Given the description of an element on the screen output the (x, y) to click on. 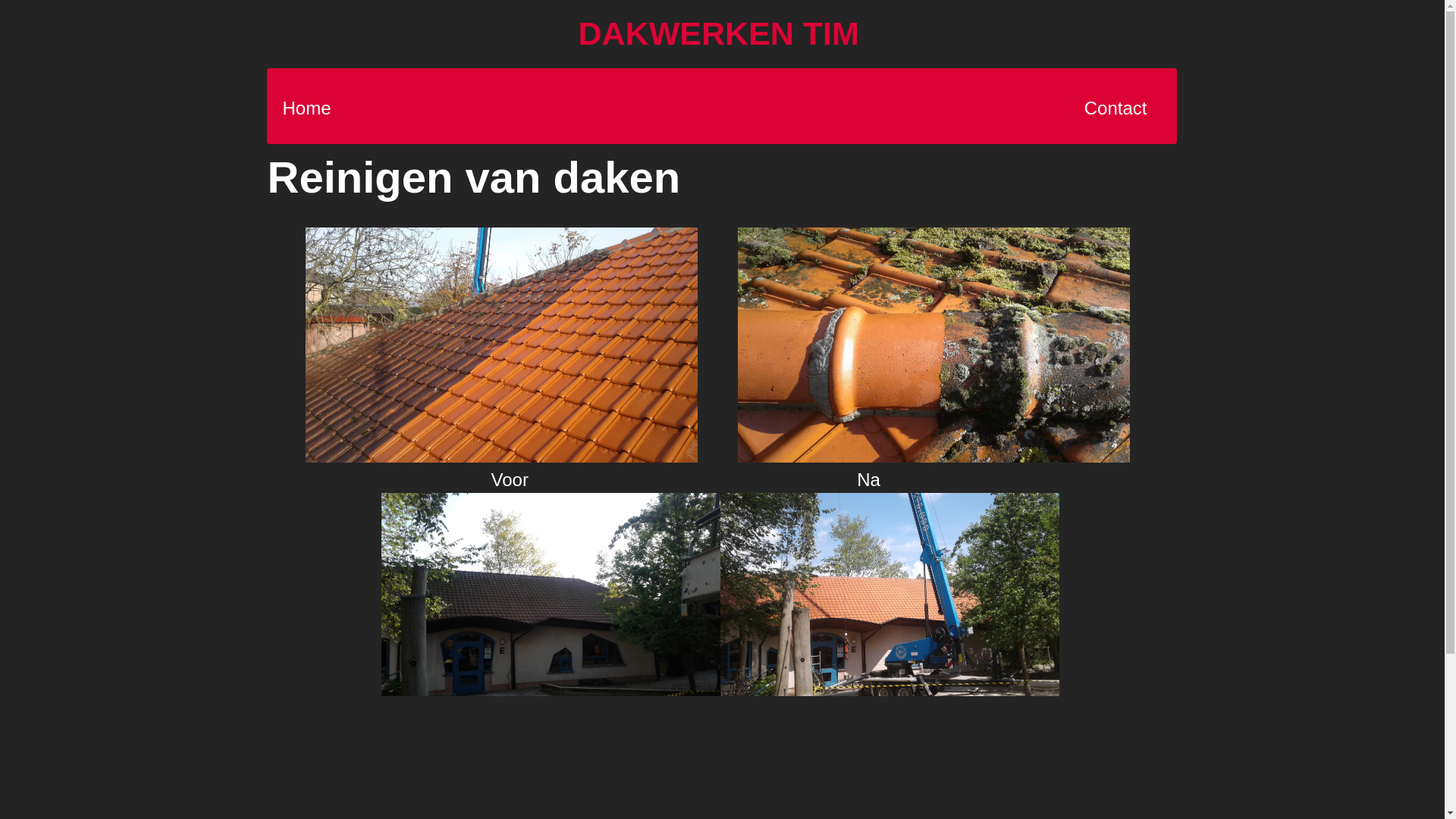
Contact Element type: text (1115, 108)
Home Element type: text (305, 108)
